Given the description of an element on the screen output the (x, y) to click on. 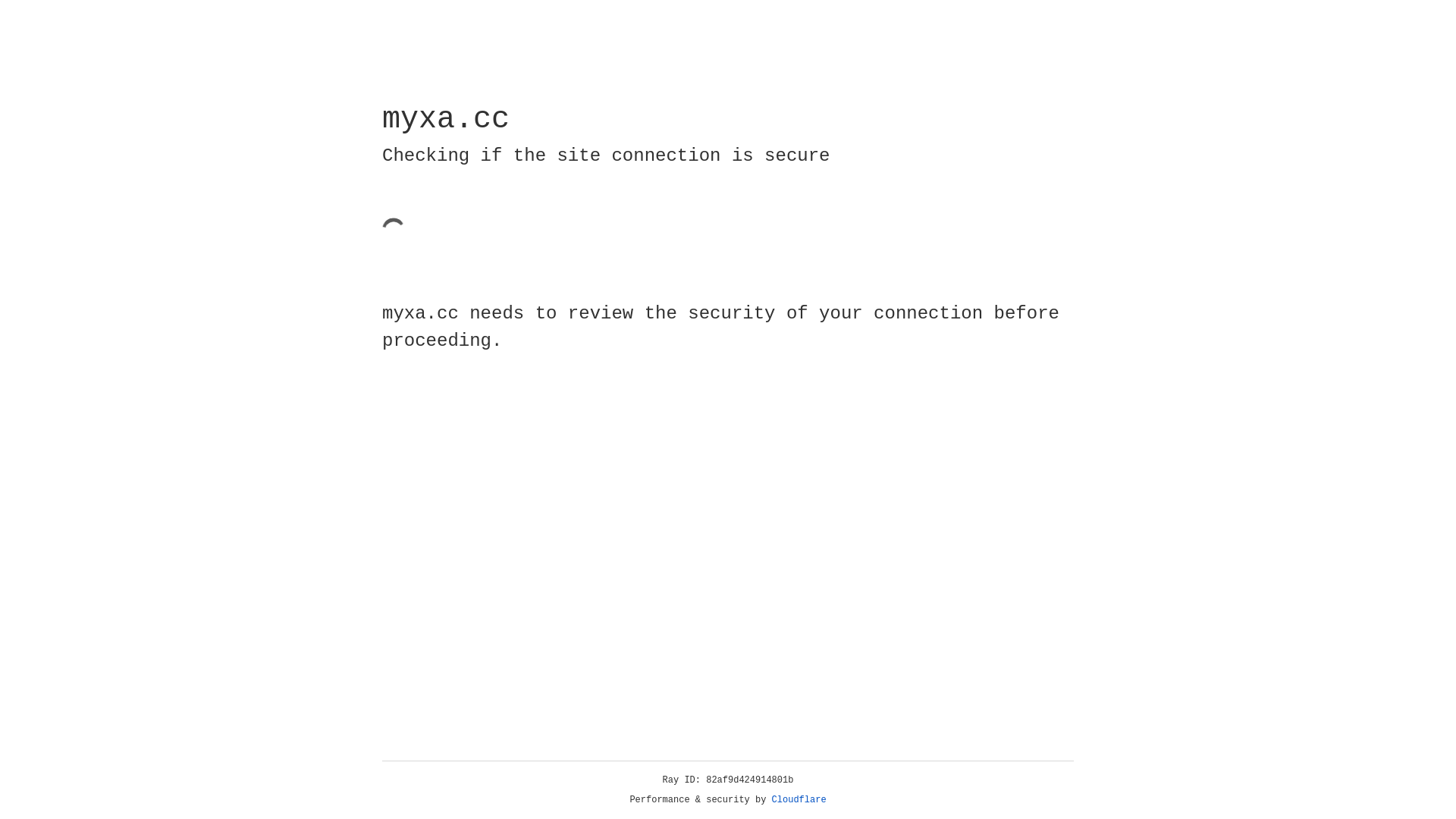
Cloudflare Element type: text (798, 799)
